Given the description of an element on the screen output the (x, y) to click on. 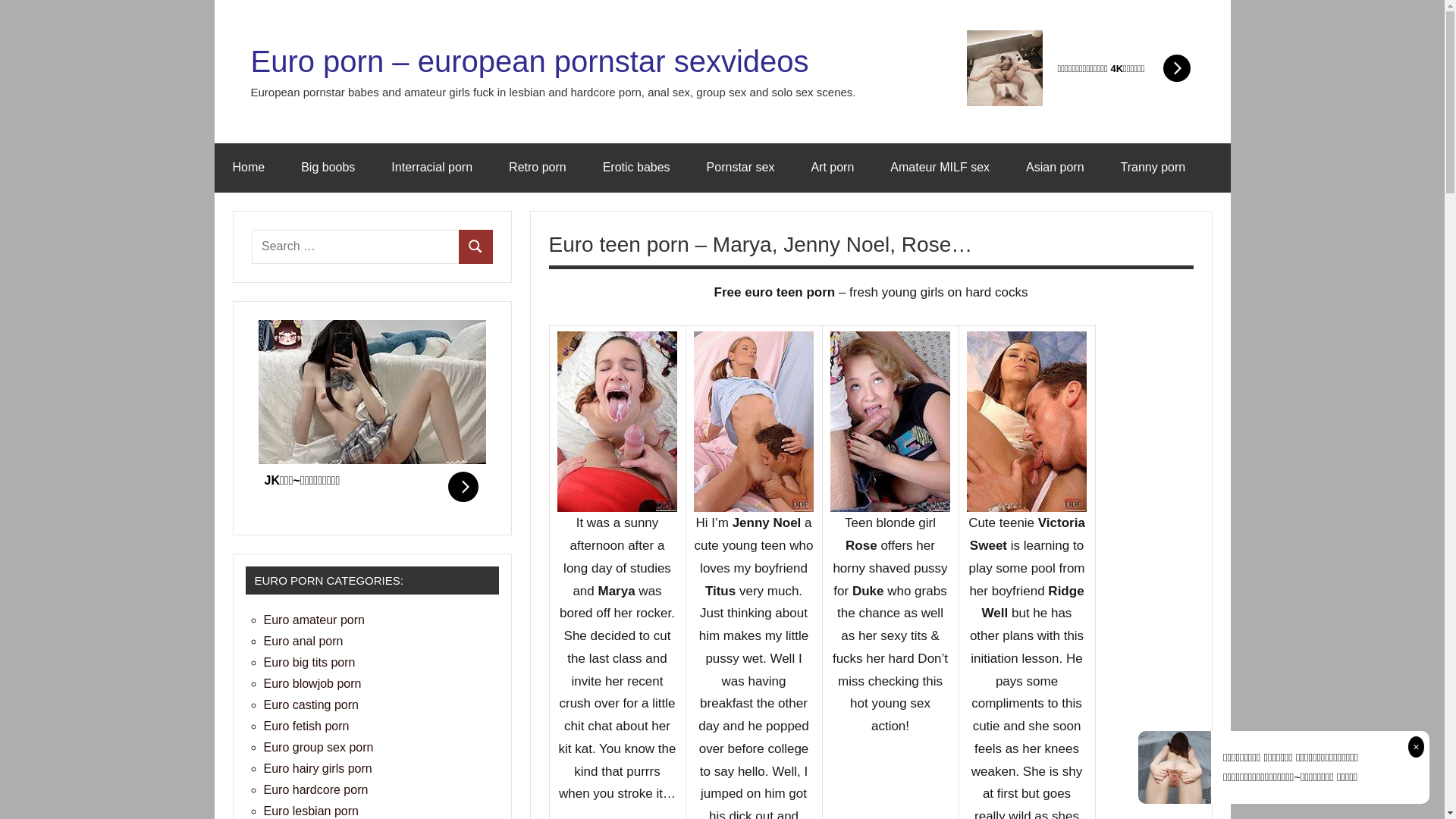
euro-teen-porn-marya Element type: hover (617, 421)
Amateur MILF sex Element type: text (939, 167)
euro-teen-porn-rose Element type: hover (890, 421)
Euro lesbian porn Element type: text (310, 810)
Euro hardcore porn Element type: text (315, 789)
Euro casting porn Element type: text (310, 704)
Euro big tits porn Element type: text (309, 661)
Euro anal porn Element type: text (303, 640)
Home Element type: text (247, 167)
euro-teen-porn-jenny-noel Element type: hover (753, 421)
Euro blowjob porn Element type: text (312, 683)
euro-teen-porn-victoria-sweet Element type: hover (1026, 421)
Euro fetish porn Element type: text (306, 725)
Interracial porn Element type: text (431, 167)
Art porn Element type: text (832, 167)
Search for: Element type: hover (355, 246)
Euro hairy girls porn Element type: text (317, 768)
Retro porn Element type: text (537, 167)
Euro group sex porn Element type: text (318, 746)
Skip to content Element type: text (213, 0)
Erotic babes Element type: text (636, 167)
Big boobs Element type: text (327, 167)
Tranny porn Element type: text (1153, 167)
Asian porn Element type: text (1054, 167)
Pornstar sex Element type: text (740, 167)
Search Element type: text (475, 246)
Euro amateur porn Element type: text (313, 619)
